Given the description of an element on the screen output the (x, y) to click on. 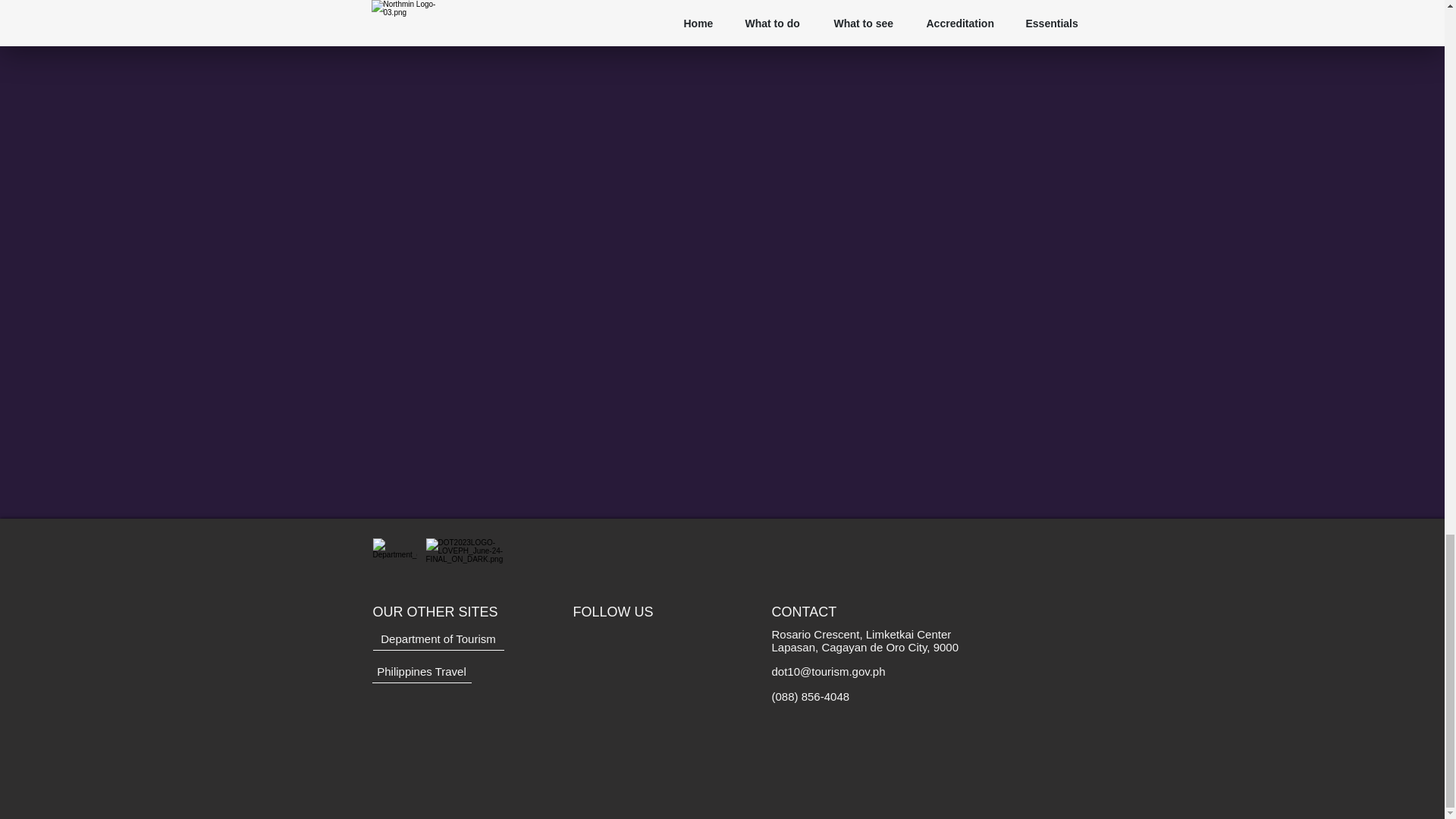
Department of Tourism (437, 639)
Philippines Travel (420, 671)
